Given the description of an element on the screen output the (x, y) to click on. 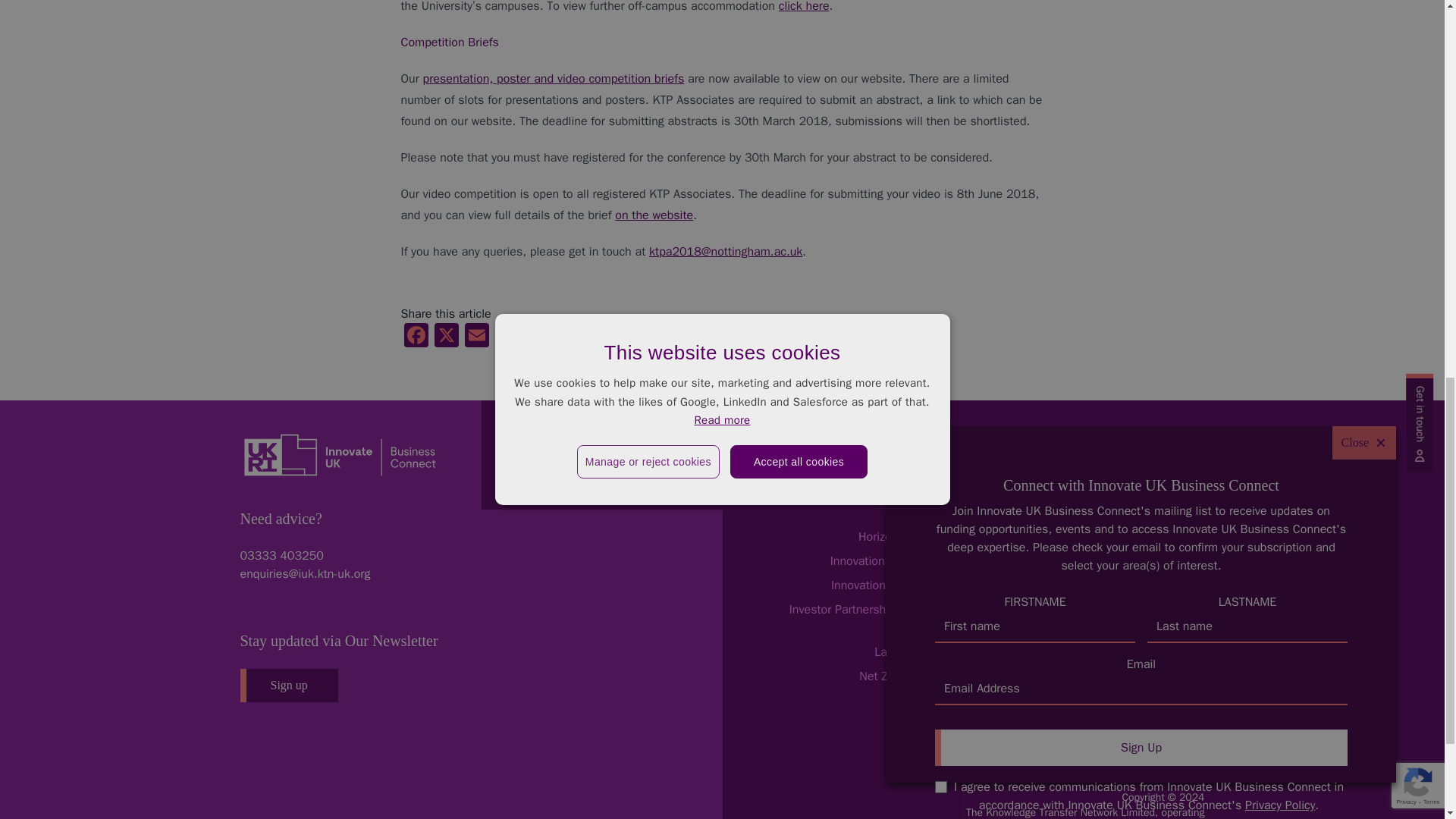
LinkedIn (506, 337)
X (445, 337)
Facebook (415, 337)
Email (476, 337)
